Given the description of an element on the screen output the (x, y) to click on. 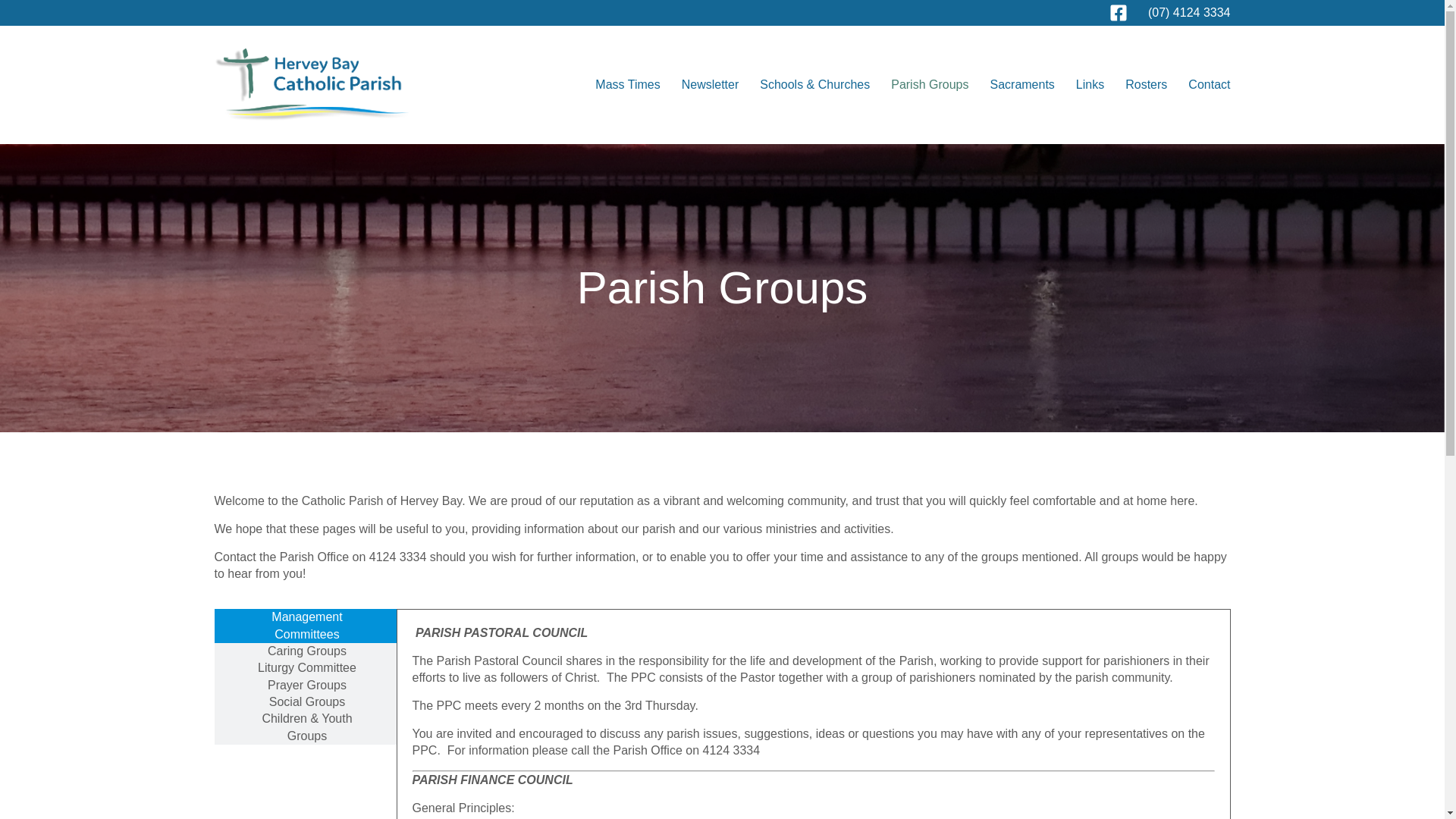
Rosters (1146, 84)
Prayer Groups (305, 685)
Social Groups (305, 701)
Parish Groups (929, 84)
Caring Groups (305, 651)
Newsletter (710, 84)
Mass Times (627, 84)
Sacraments (1022, 84)
Contact (1209, 84)
Liturgy Committee (305, 668)
Management Committees (305, 625)
